Given the description of an element on the screen output the (x, y) to click on. 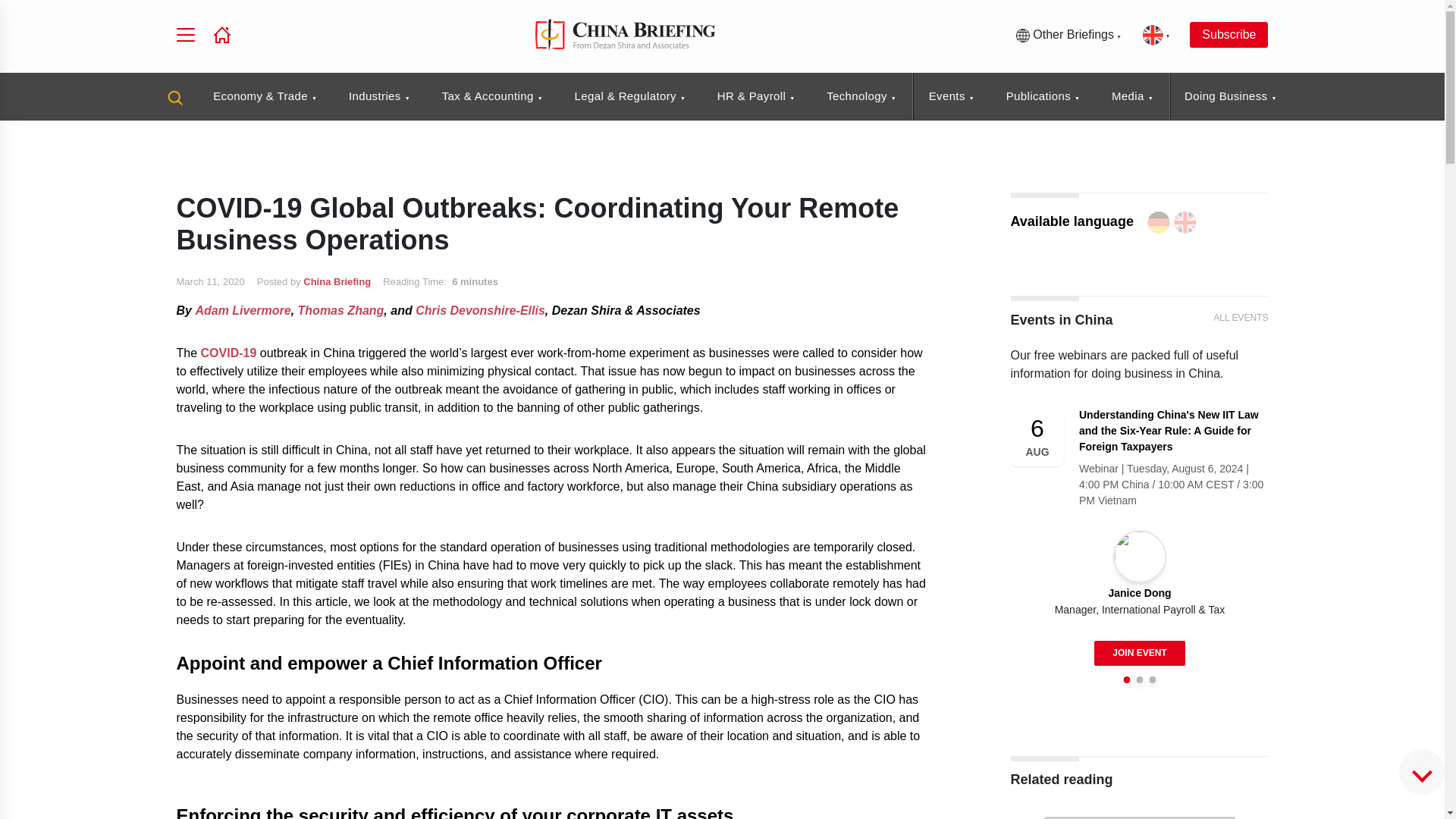
View all posts by China Briefing (336, 281)
